Given the description of an element on the screen output the (x, y) to click on. 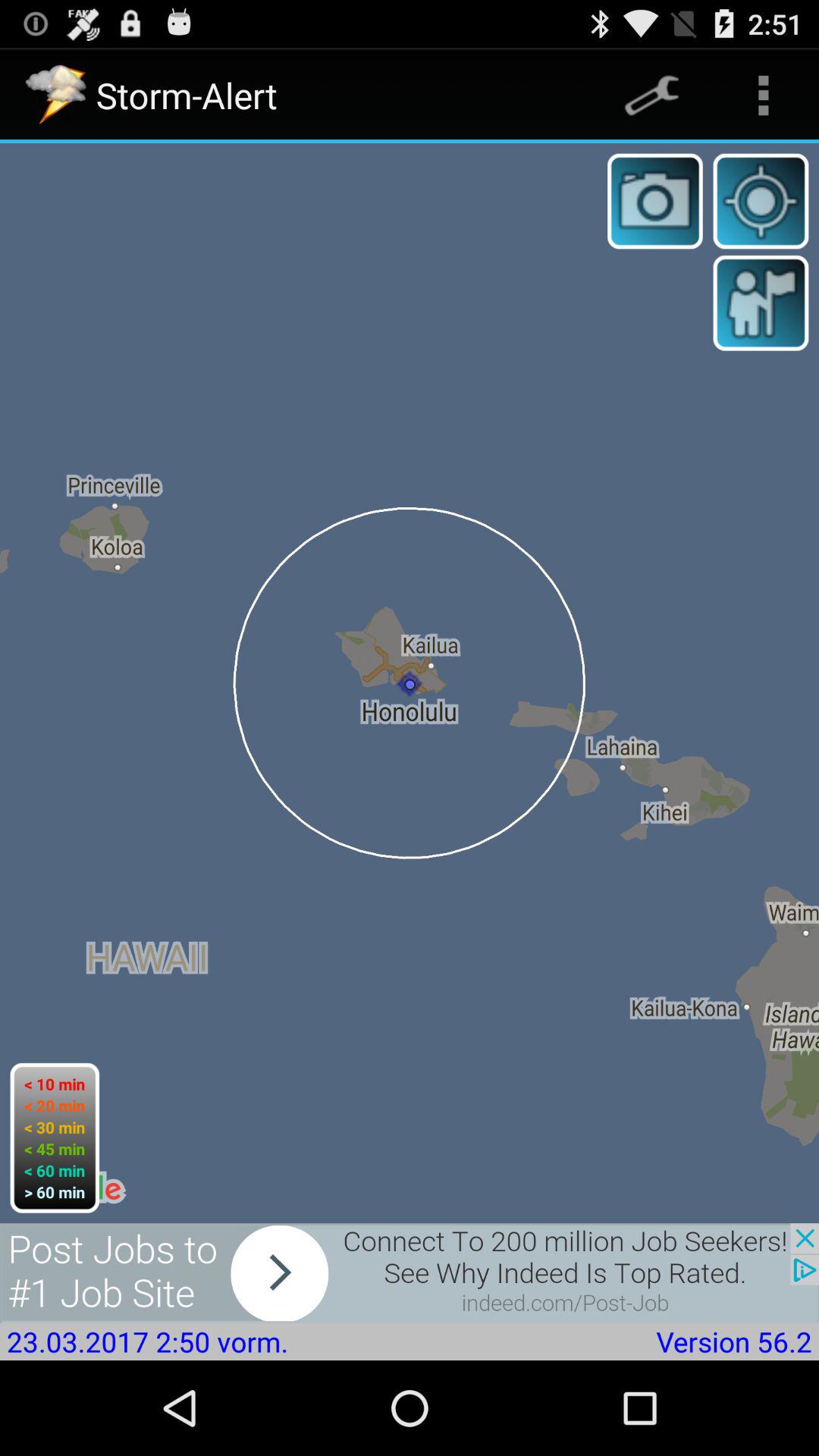
compass option (760, 201)
